Given the description of an element on the screen output the (x, y) to click on. 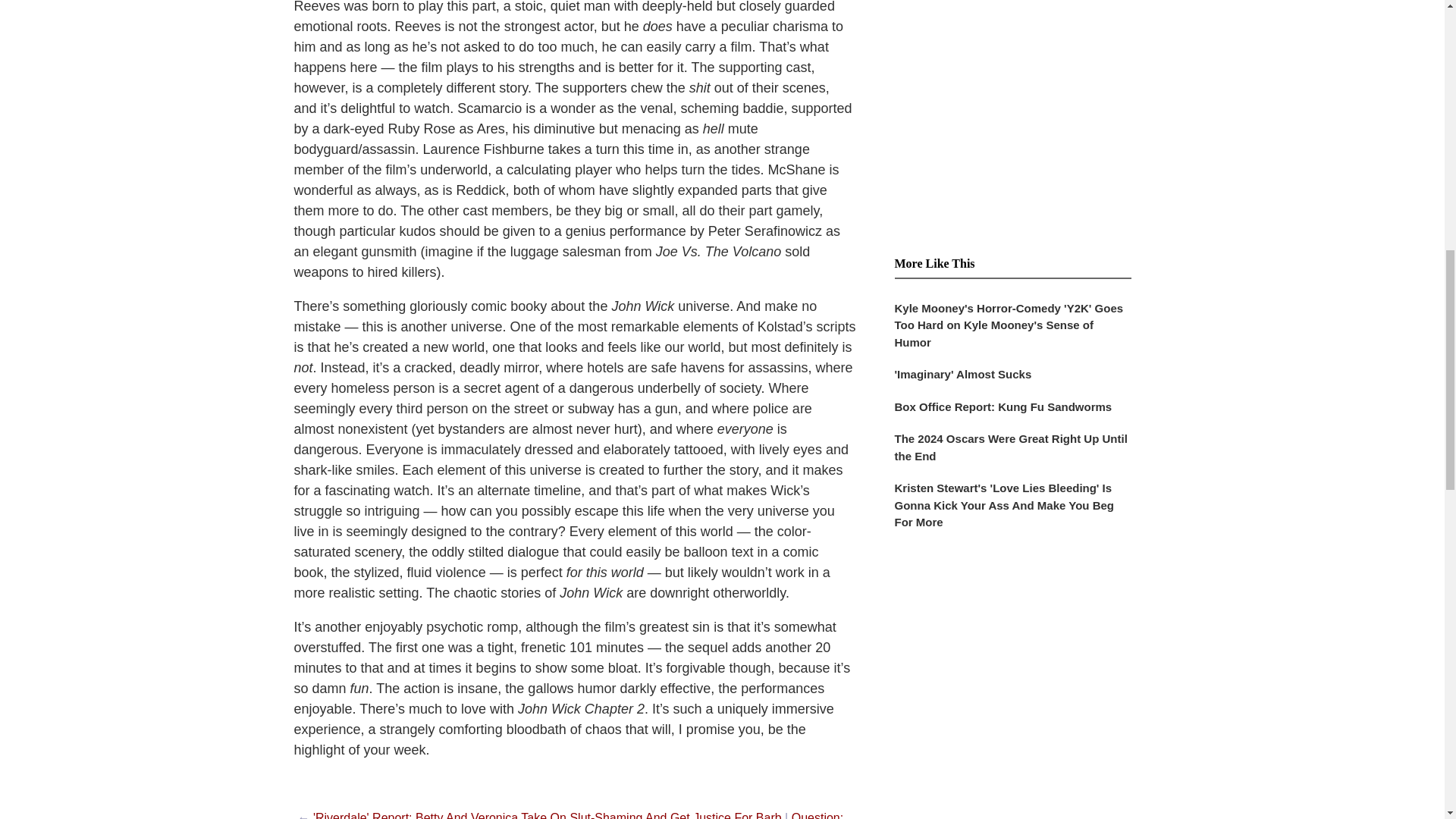
'Imaginary' Almost Sucks (1013, 381)
Question: Are You An Alpha Woman Who Is Unable to Love? (570, 815)
